Given the description of an element on the screen output the (x, y) to click on. 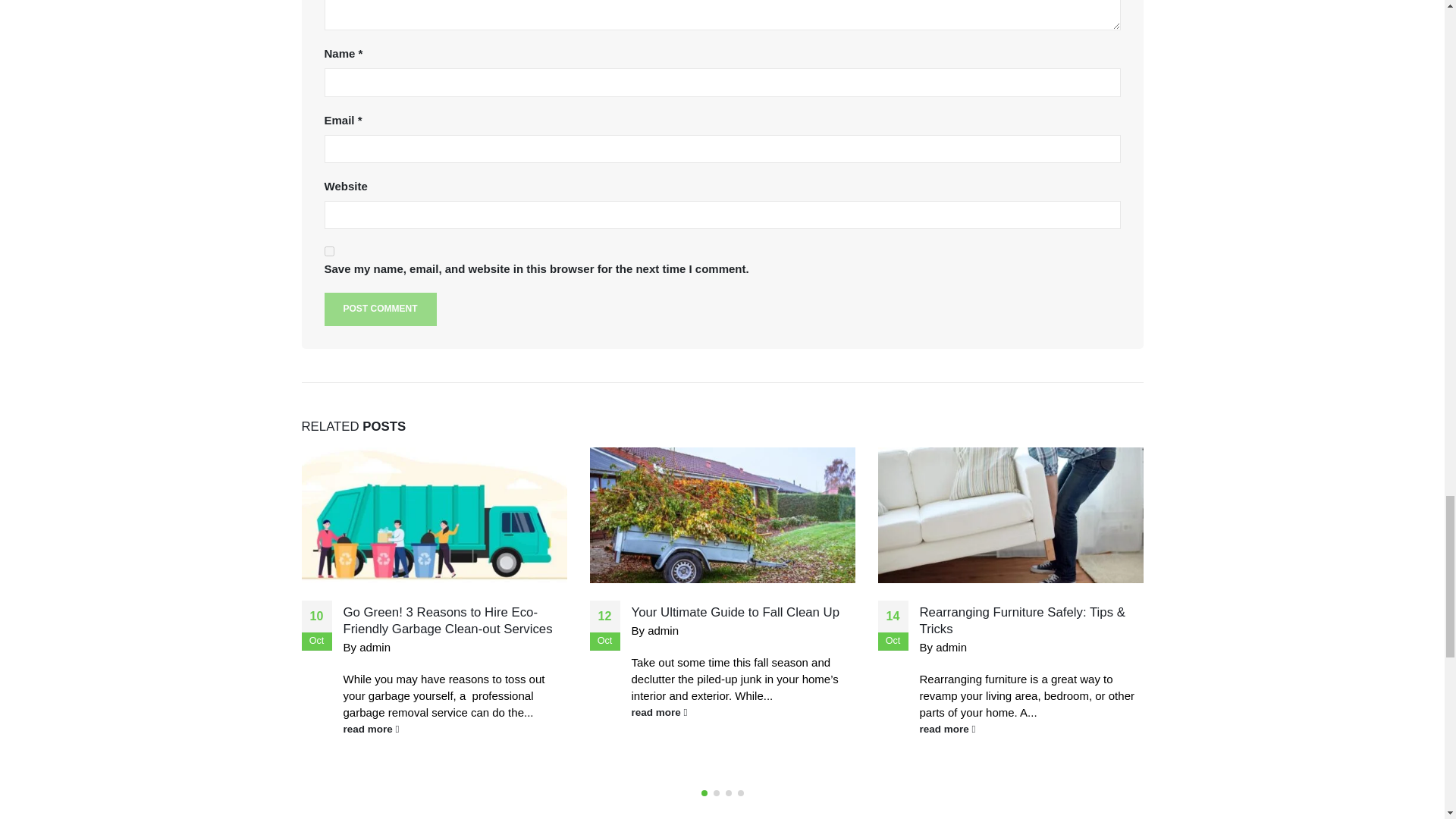
Posts by admin (374, 646)
yes (329, 251)
Posts by admin (662, 630)
Post Comment (380, 308)
Posts by admin (951, 646)
